Given the description of an element on the screen output the (x, y) to click on. 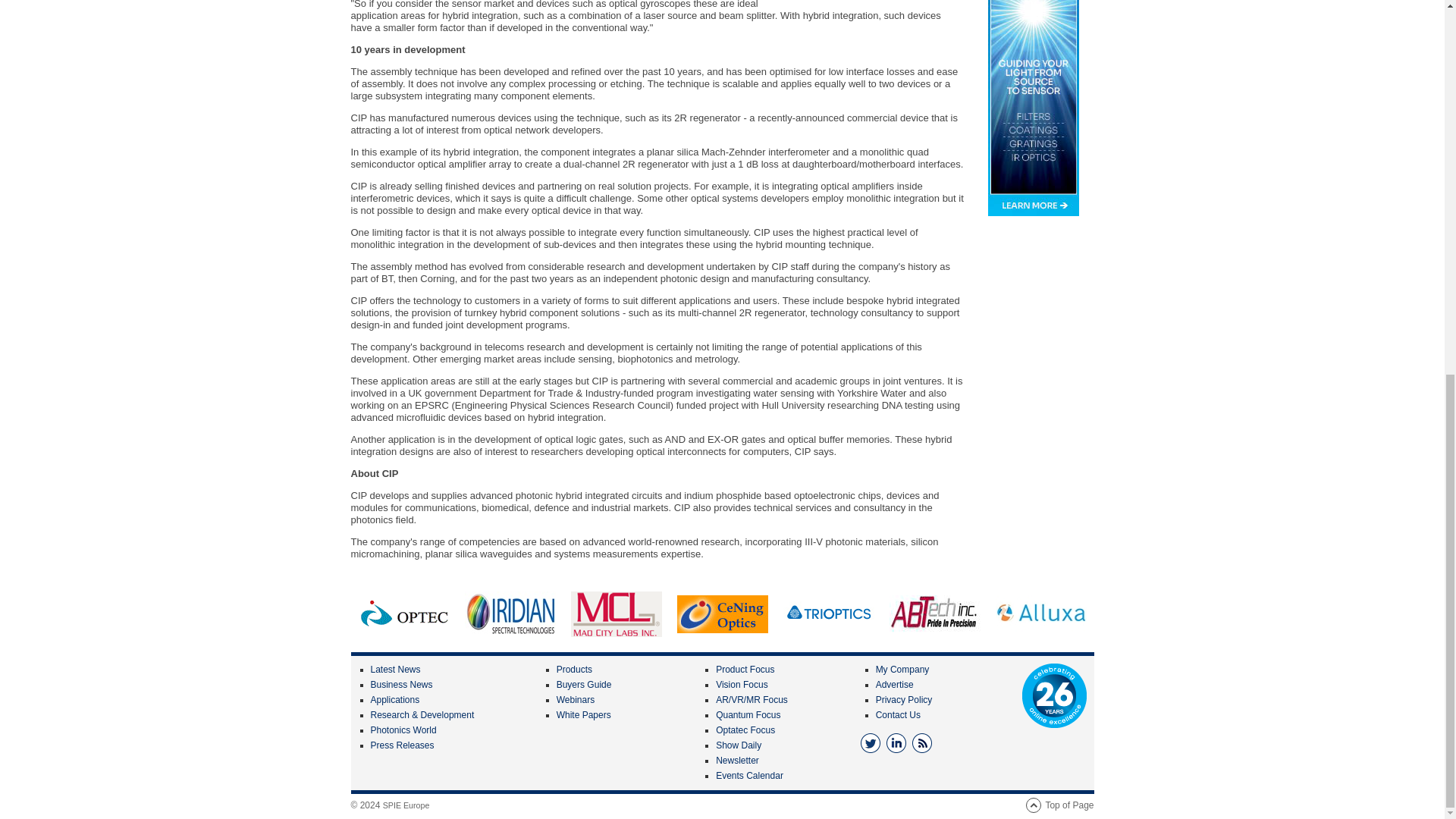
Twitter (870, 742)
RSS Feeds (921, 742)
LinkedIn (895, 742)
